Given the description of an element on the screen output the (x, y) to click on. 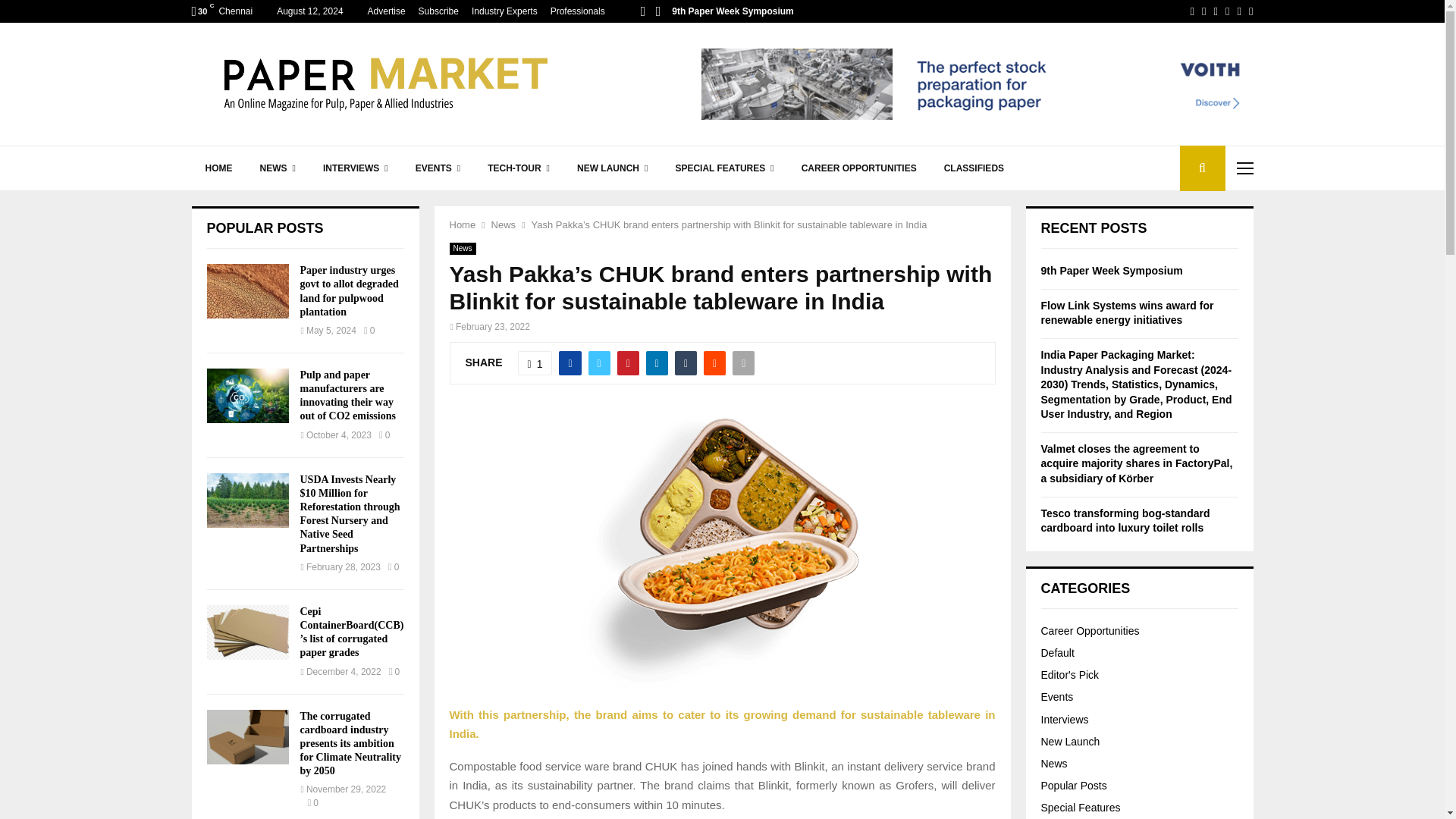
9th Paper Week Symposium (732, 10)
NEWS (277, 167)
Subscribe (438, 11)
Advertise (387, 11)
HOME (218, 167)
Professionals (577, 11)
Industry Experts (504, 11)
